Given the description of an element on the screen output the (x, y) to click on. 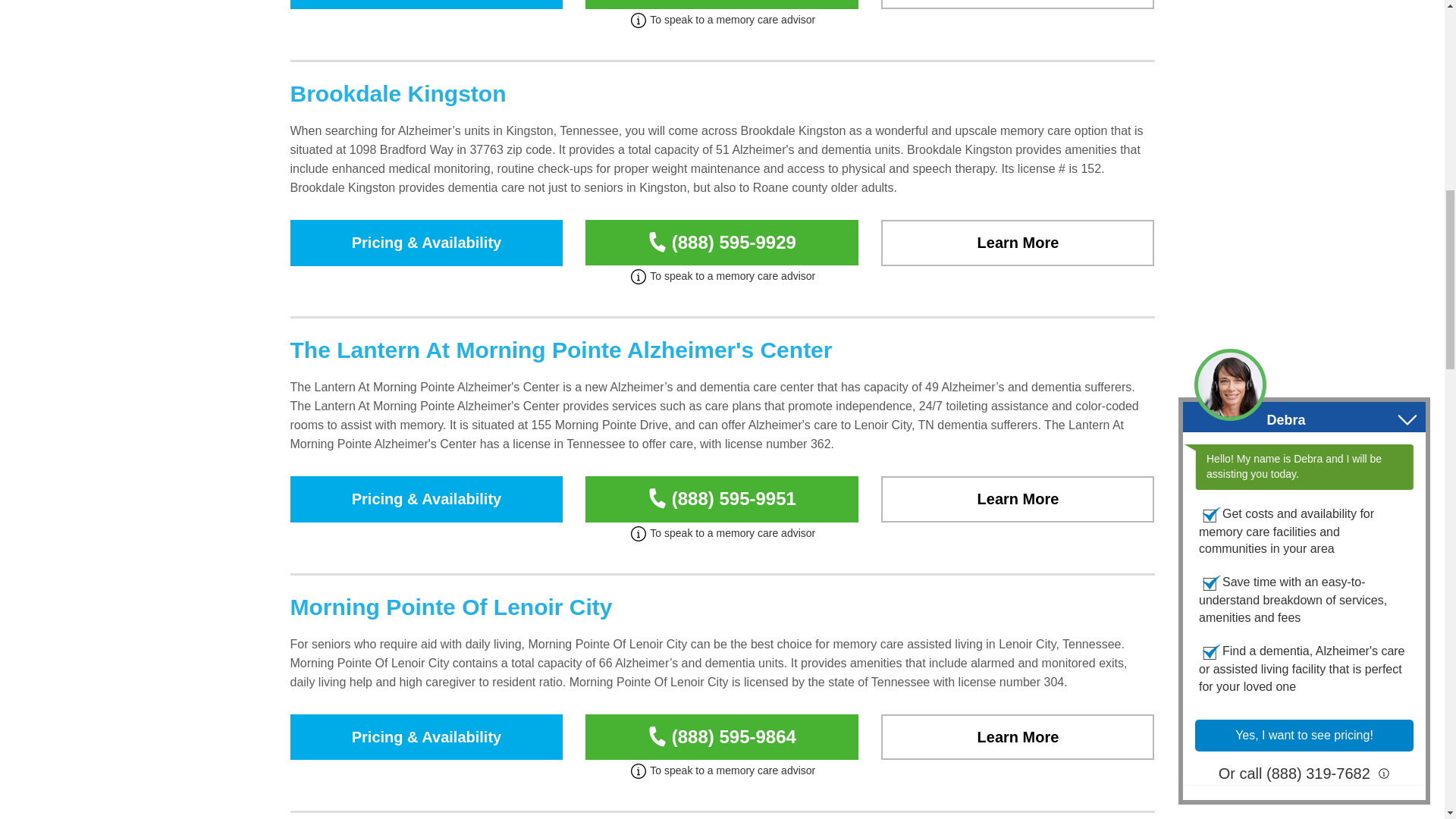
Learn More (1017, 737)
Learn More (1017, 498)
Learn More (1017, 737)
Learn More (1017, 243)
Learn More (1017, 243)
Learn More (1017, 4)
Learn More (1017, 498)
Learn More (1017, 4)
